Given the description of an element on the screen output the (x, y) to click on. 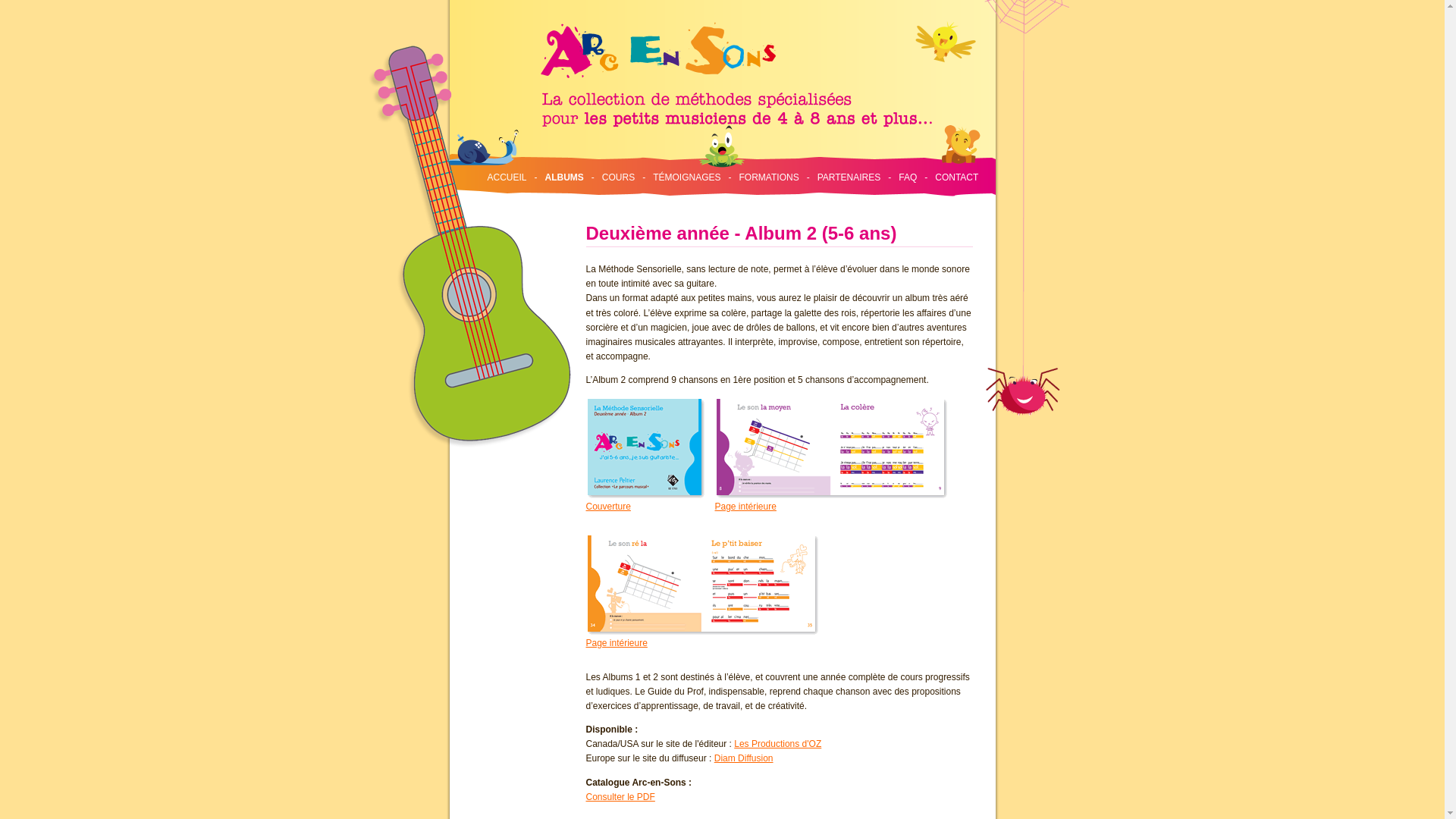
FAQ Element type: text (907, 177)
FORMATIONS Element type: text (768, 177)
Couverture Element type: text (645, 502)
Les Productions d'OZ Element type: text (777, 743)
COURS Element type: text (618, 177)
Diam Diffusion Element type: text (743, 758)
PARTENAIRES Element type: text (848, 177)
Consulter le PDF Element type: text (619, 796)
ALBUMS Element type: text (564, 177)
CONTACT Element type: text (956, 177)
ACCUEIL Element type: text (506, 177)
